Given the description of an element on the screen output the (x, y) to click on. 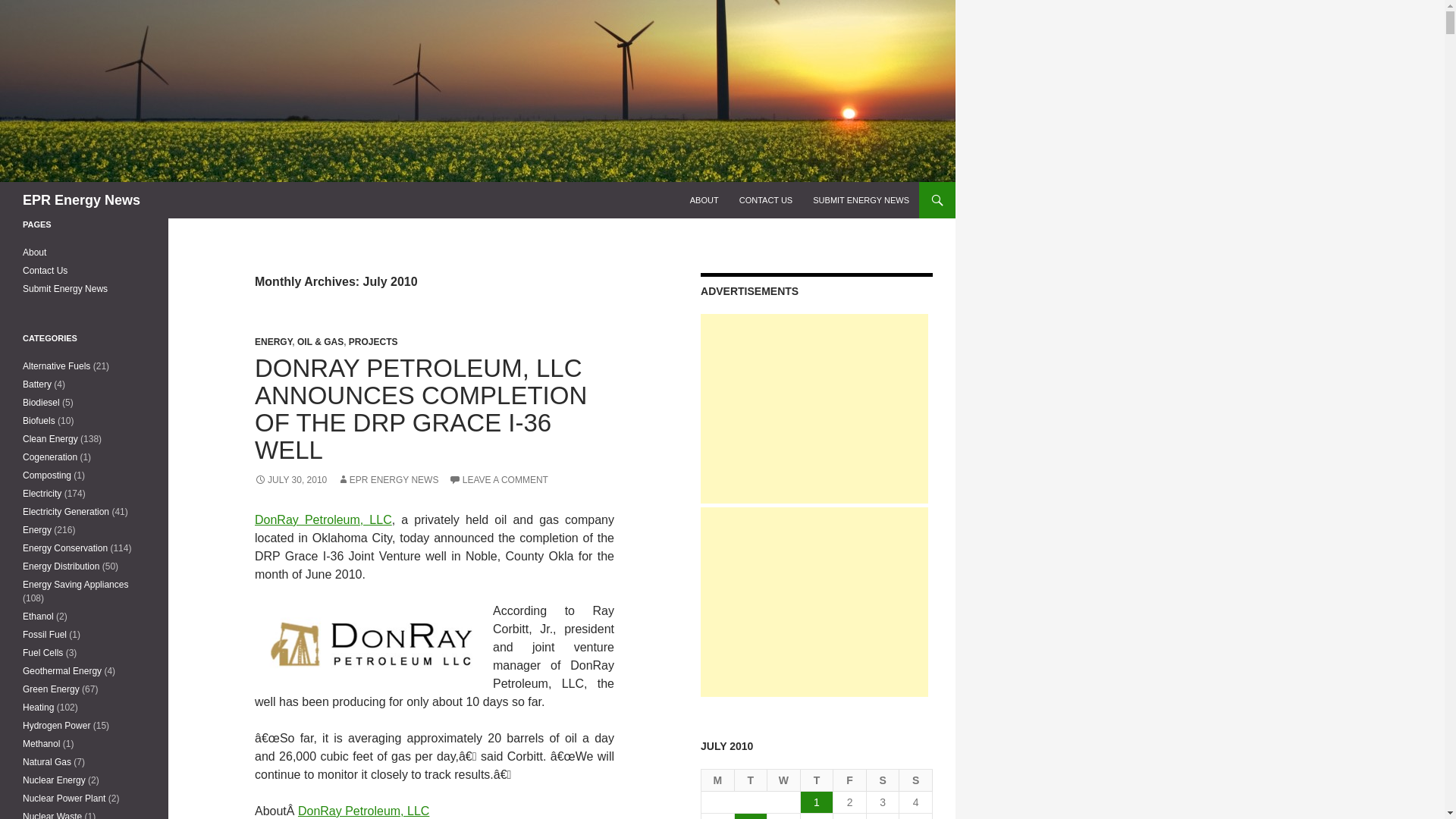
ENERGY (273, 341)
Tuesday (751, 780)
EPR ENERGY NEWS (388, 480)
Advertisement (814, 601)
Advertisement (814, 408)
CONTACT US (766, 199)
Wednesday (783, 780)
Sunday (916, 780)
LEAVE A COMMENT (498, 480)
DonRay Petroleum, LLC (322, 519)
Friday (849, 780)
ABOUT (704, 199)
